Given the description of an element on the screen output the (x, y) to click on. 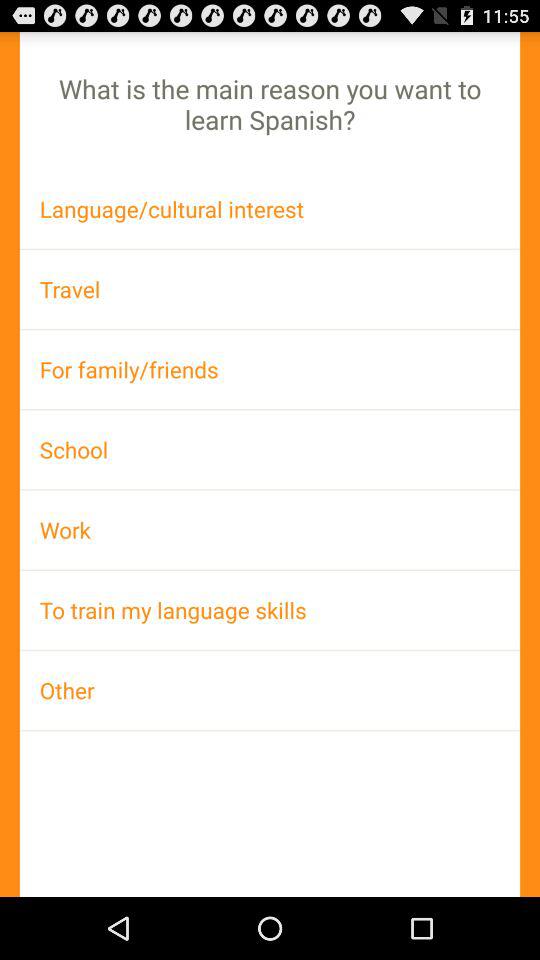
click item above the travel icon (269, 208)
